Given the description of an element on the screen output the (x, y) to click on. 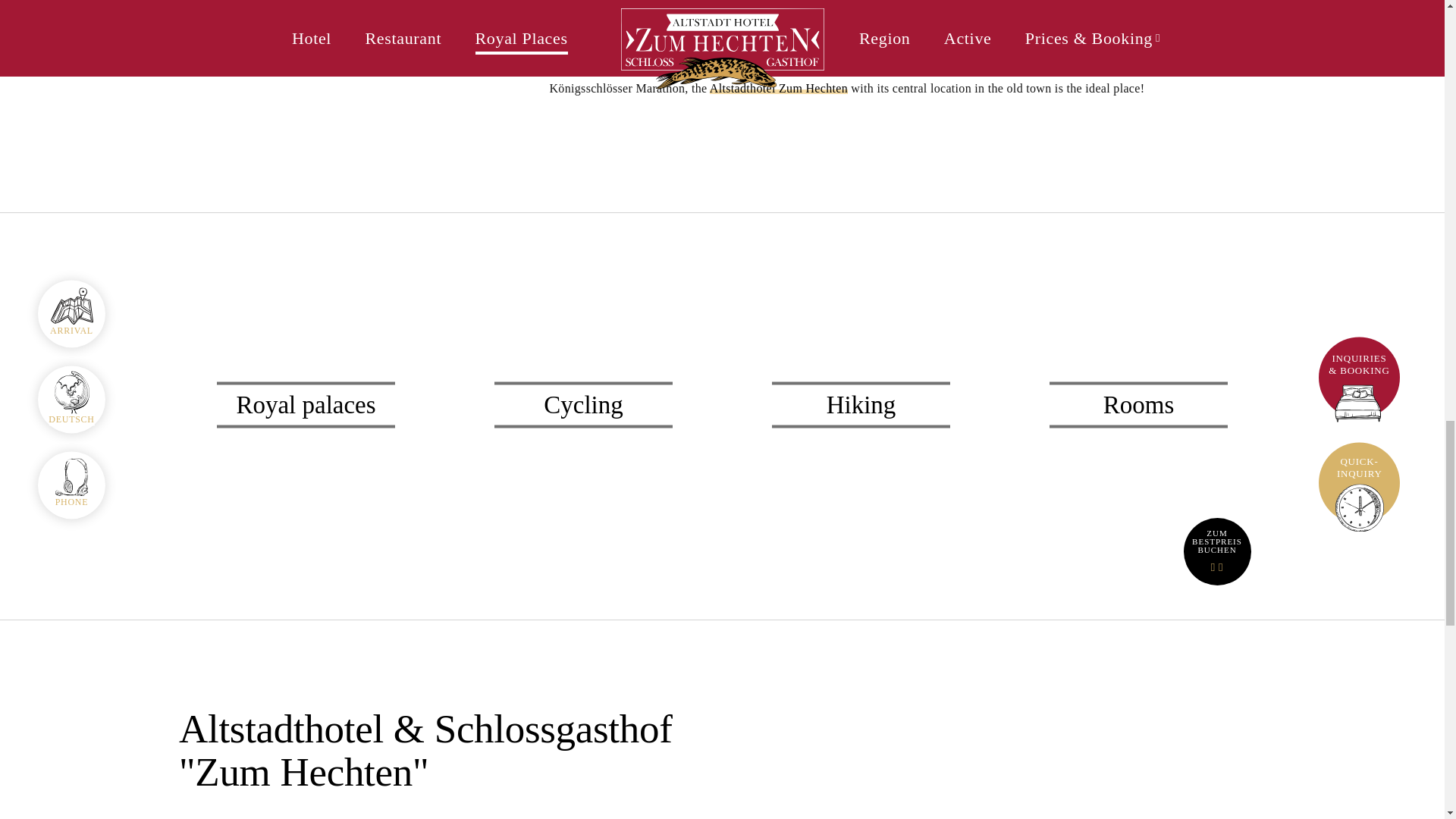
Hiking (860, 404)
Royal palaces (306, 404)
Cycling (584, 404)
Altstadthotel Zum Hechten (778, 88)
Rooms (1138, 404)
ZUM BESTPREIS BUCHEN (1216, 551)
